Given the description of an element on the screen output the (x, y) to click on. 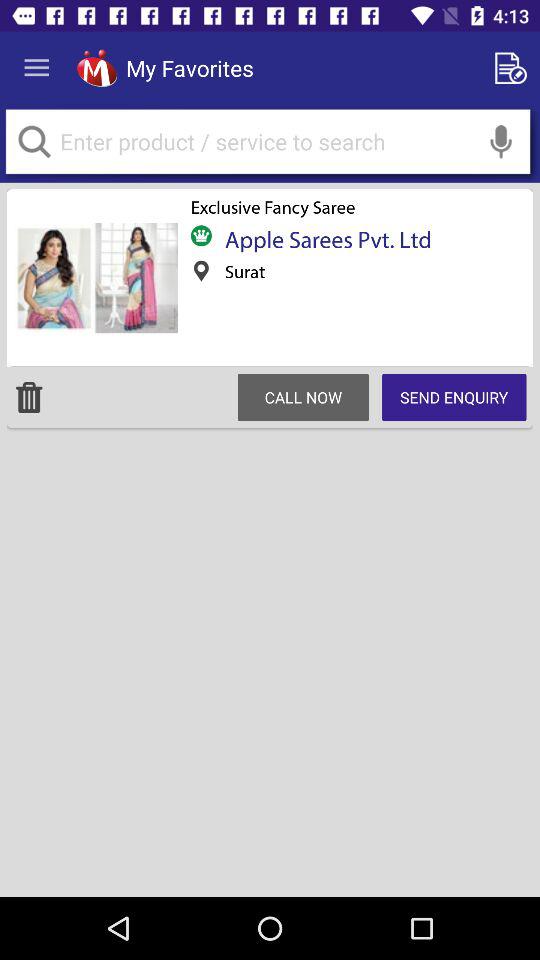
enter your search query here (267, 141)
